Given the description of an element on the screen output the (x, y) to click on. 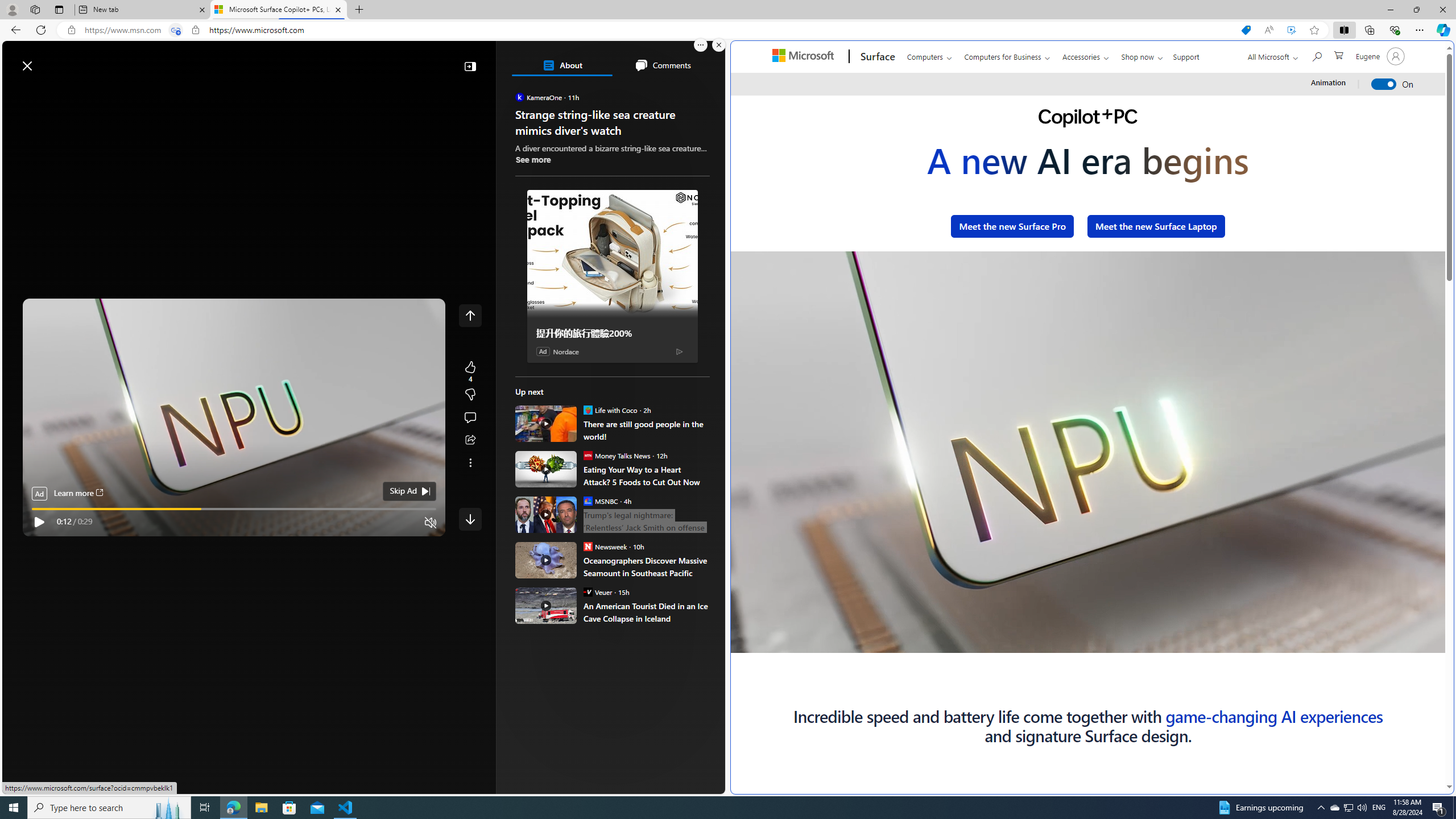
0 items in shopping cart (1338, 53)
Support (1185, 54)
Money Talks News Money Talks News (616, 455)
Meet the new Surface Pro (1012, 225)
Fullscreen (1432, 643)
Class: button-glyph (16, 92)
